Given the description of an element on the screen output the (x, y) to click on. 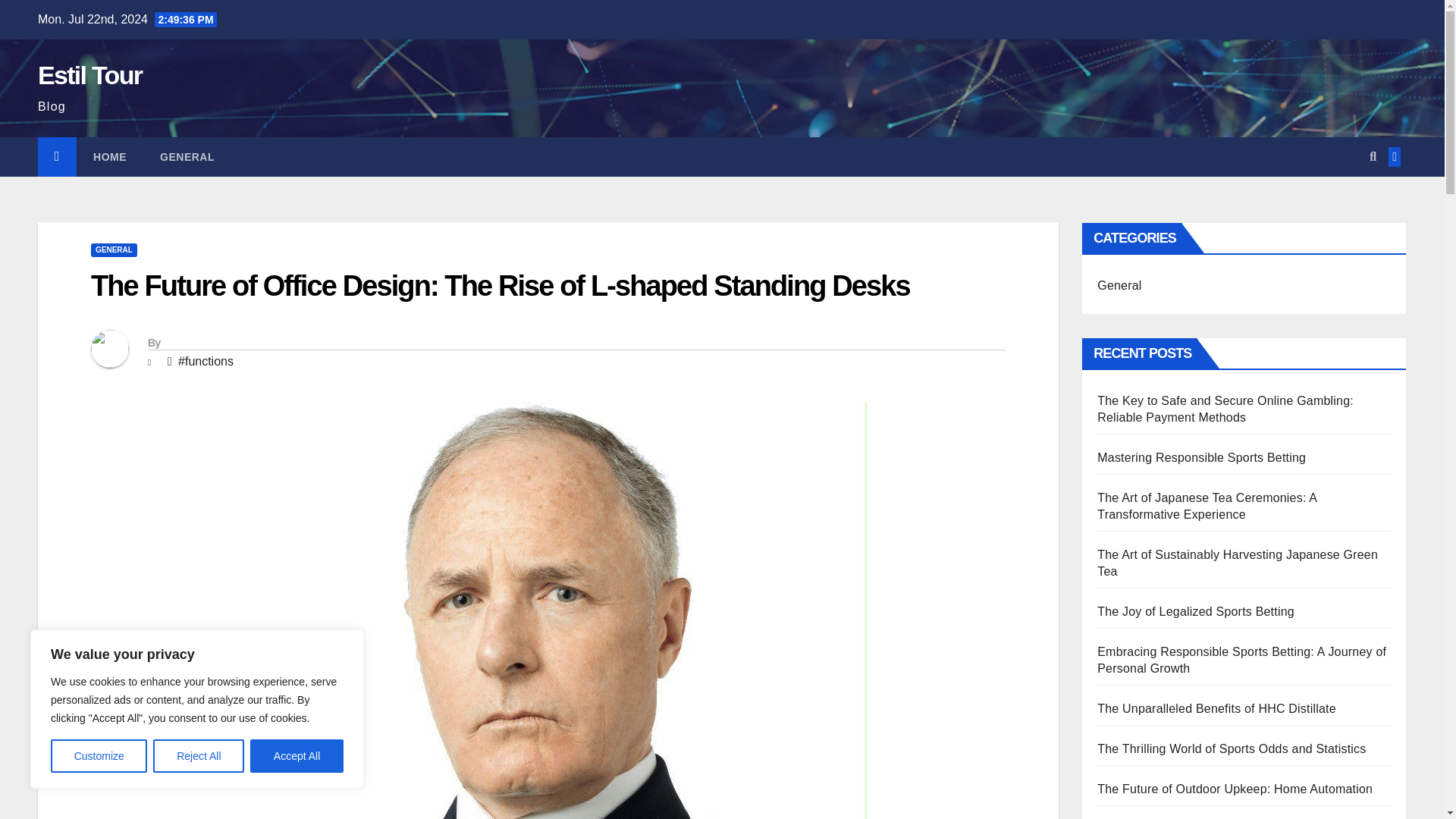
GENERAL (113, 250)
Home (109, 156)
GENERAL (186, 156)
HOME (109, 156)
Reject All (198, 756)
Accept All (296, 756)
General (186, 156)
Estil Tour (89, 74)
Customize (98, 756)
